Given the description of an element on the screen output the (x, y) to click on. 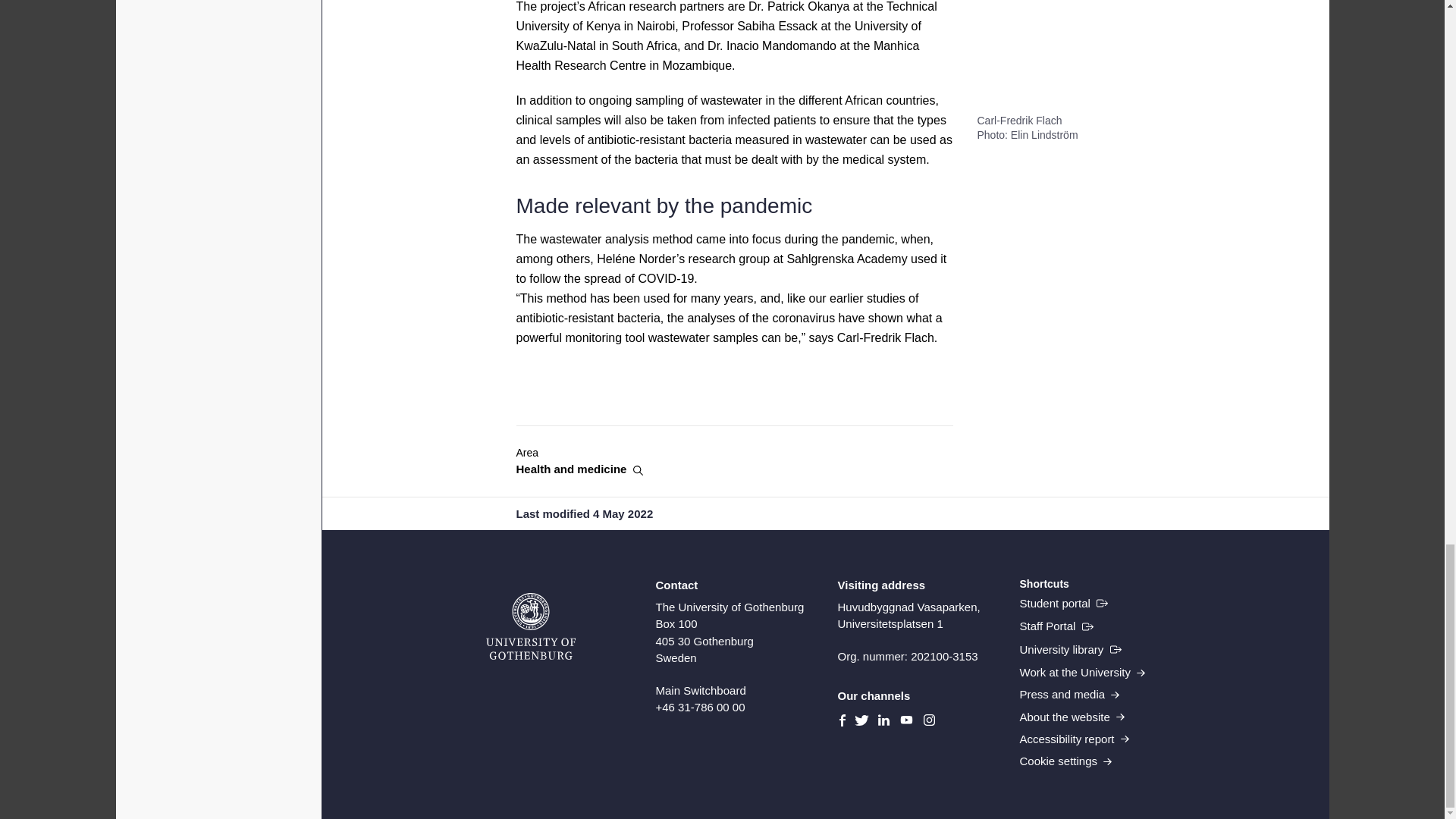
External link (1063, 603)
External link (1070, 649)
External link (1056, 626)
